Given the description of an element on the screen output the (x, y) to click on. 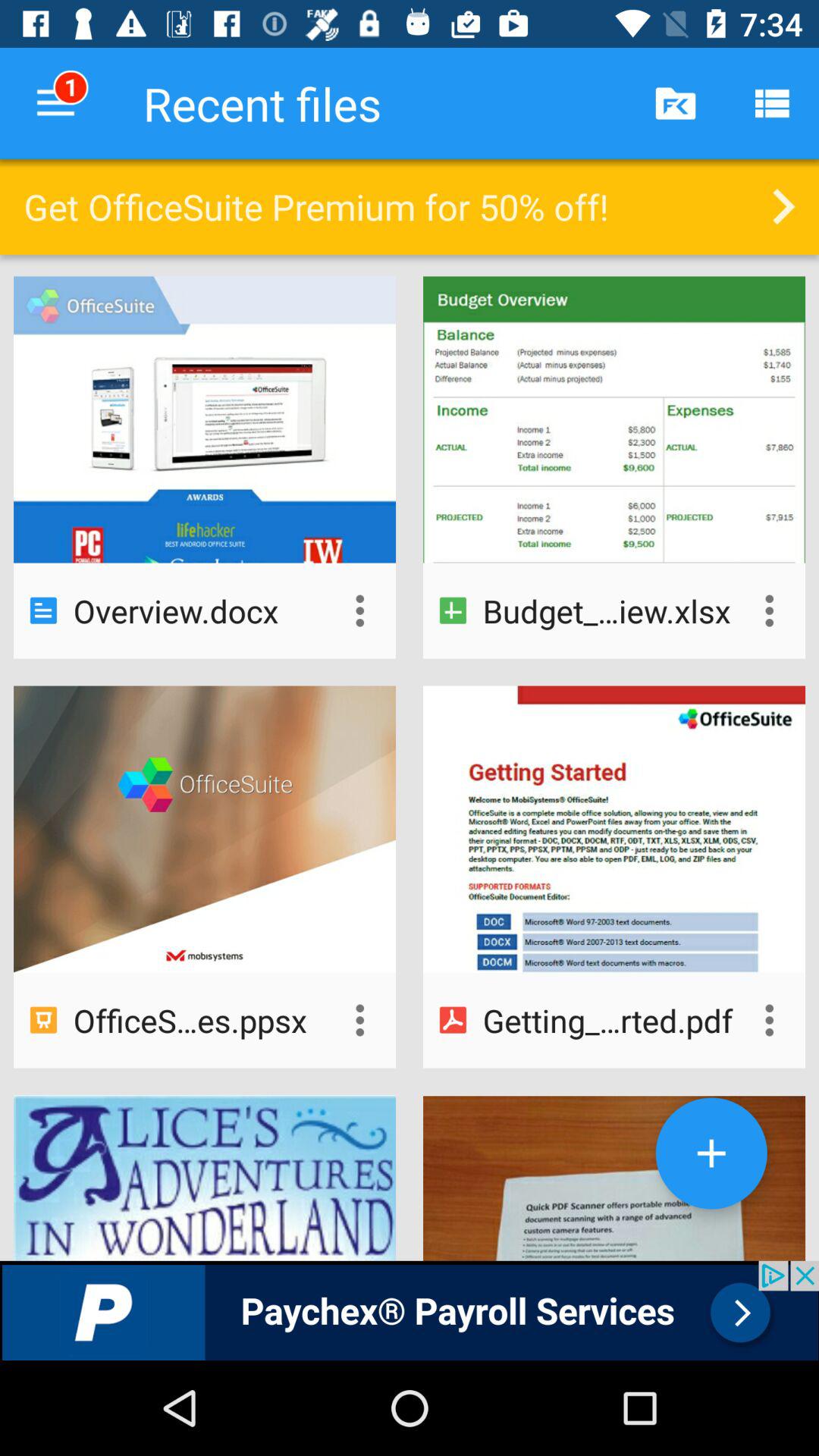
more options (769, 1020)
